Given the description of an element on the screen output the (x, y) to click on. 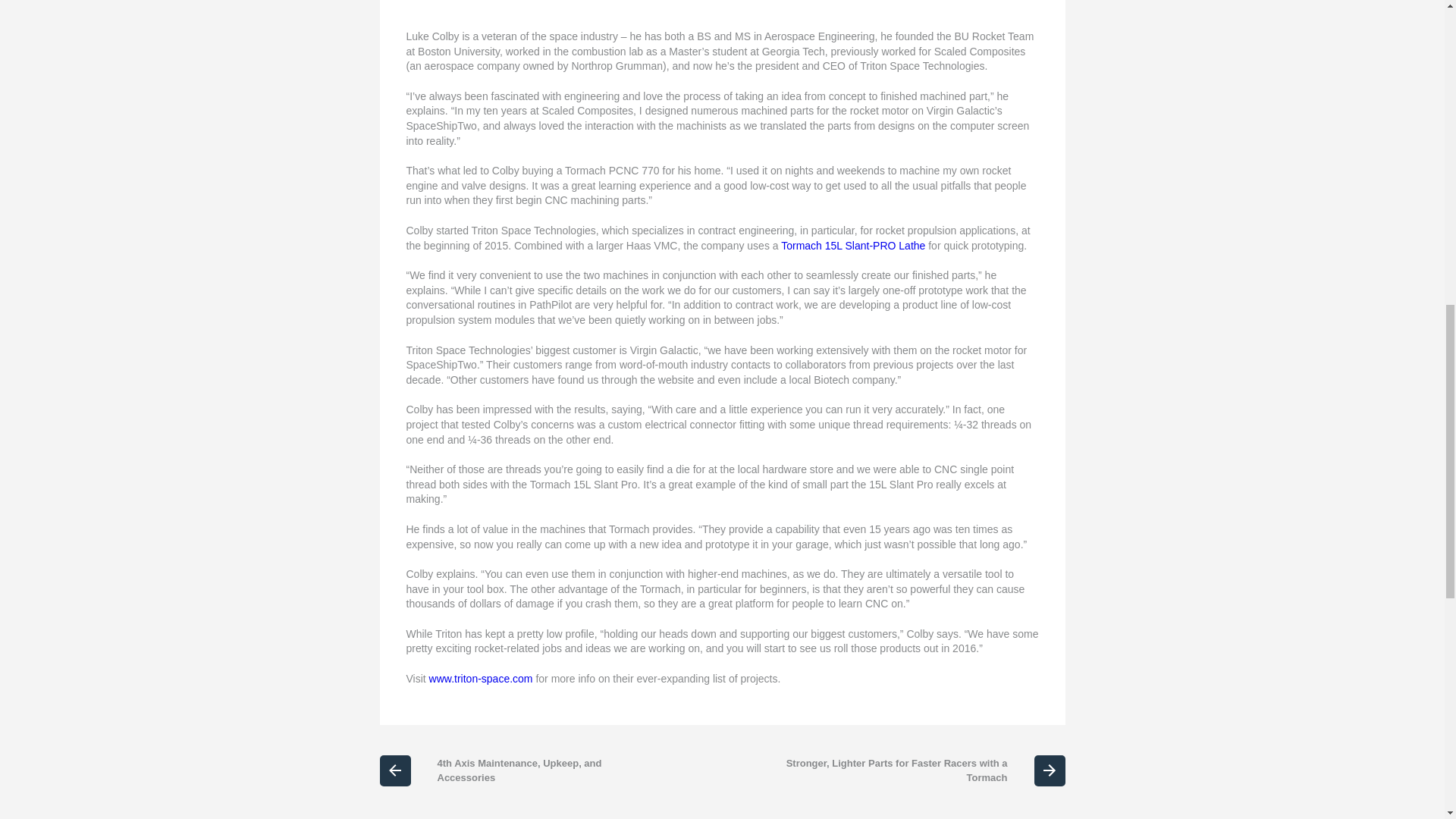
Tormach 15L Slant-PRO Lathe (852, 245)
